Given the description of an element on the screen output the (x, y) to click on. 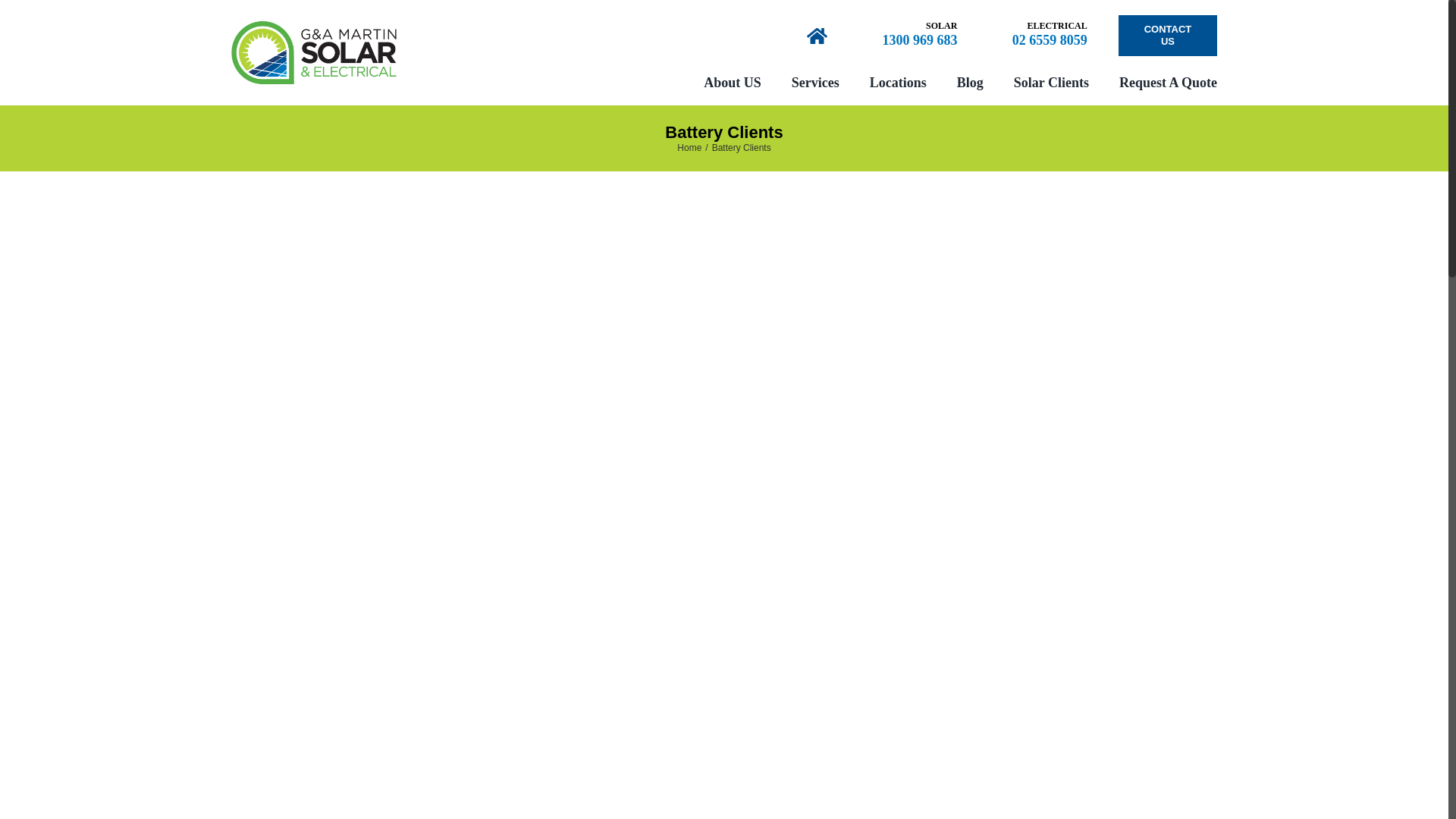
CONTACT US Element type: text (1167, 35)
1300 969 683 Element type: text (919, 40)
About US Element type: text (732, 82)
Services Element type: text (815, 82)
02 6559 8059 Element type: text (1049, 40)
Home Element type: text (689, 147)
Blog Element type: text (970, 82)
Solar Clients Element type: text (1050, 82)
Locations Element type: text (897, 82)
Request A Quote Element type: text (1168, 82)
